Given the description of an element on the screen output the (x, y) to click on. 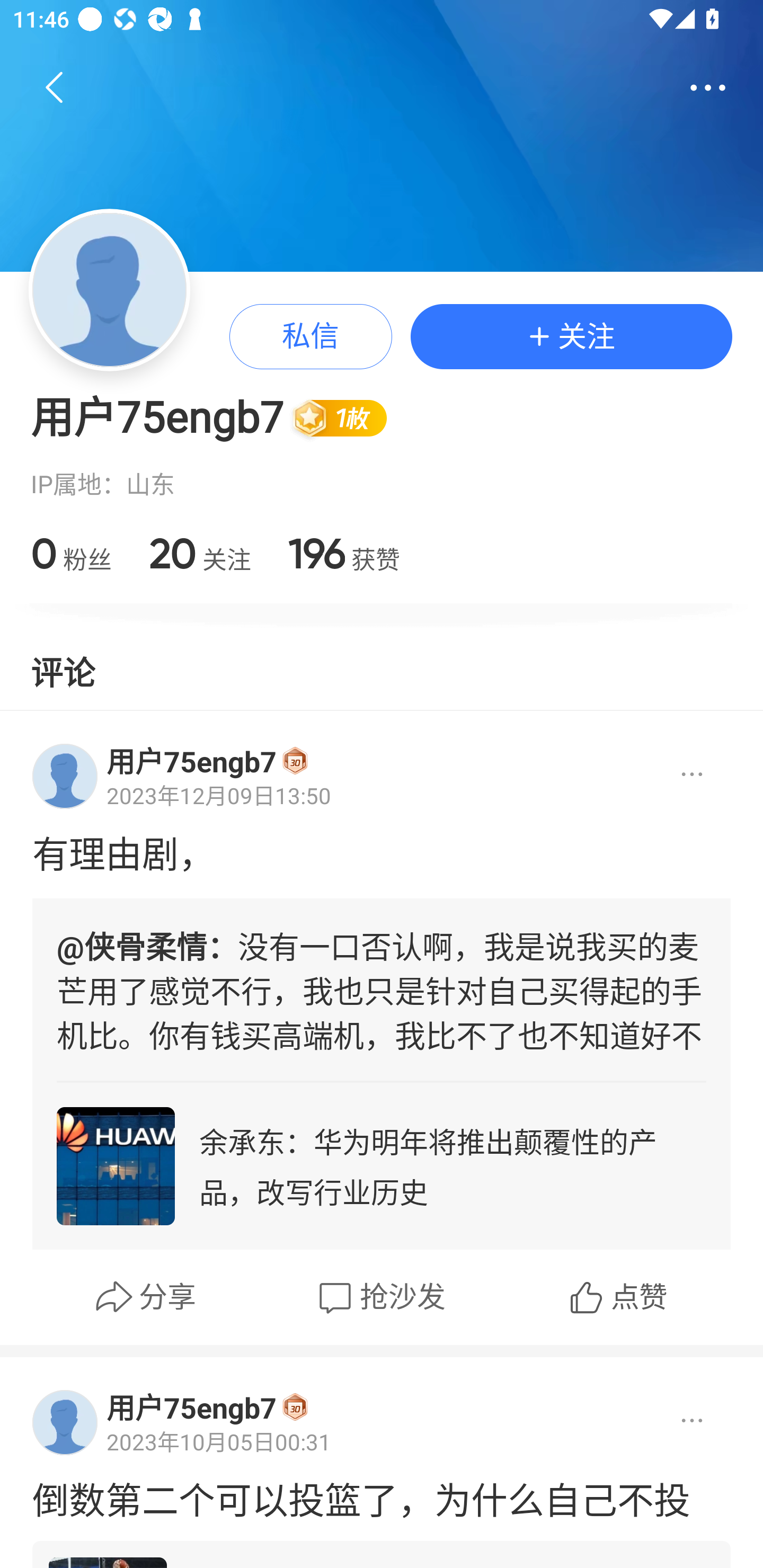
 返回 (54, 87)
 更多 (707, 87)
私信 (310, 336)
 关注 (571, 336)
1枚 (347, 417)
0 粉丝 (71, 553)
20 关注 (199, 553)
196 获赞 (343, 553)
评论 (62, 670)
用户75engb7 (191, 760)
 (676, 775)
勋章 (294, 760)
2023年12月09日13:50 (218, 795)
有理由剧， (381, 851)
余承东：华为明年将推出颠覆性的产品，改写行业历史 (381, 1165)
分享  分享 (144, 1297)
抢沙发  抢沙发 (379, 1297)
点赞 (616, 1297)
用户75engb7 (191, 1406)
 (676, 1421)
勋章 (294, 1406)
2023年10月05日00:31 (218, 1441)
倒数第二个可以投篮了，为什么自己不投 (381, 1498)
